Given the description of an element on the screen output the (x, y) to click on. 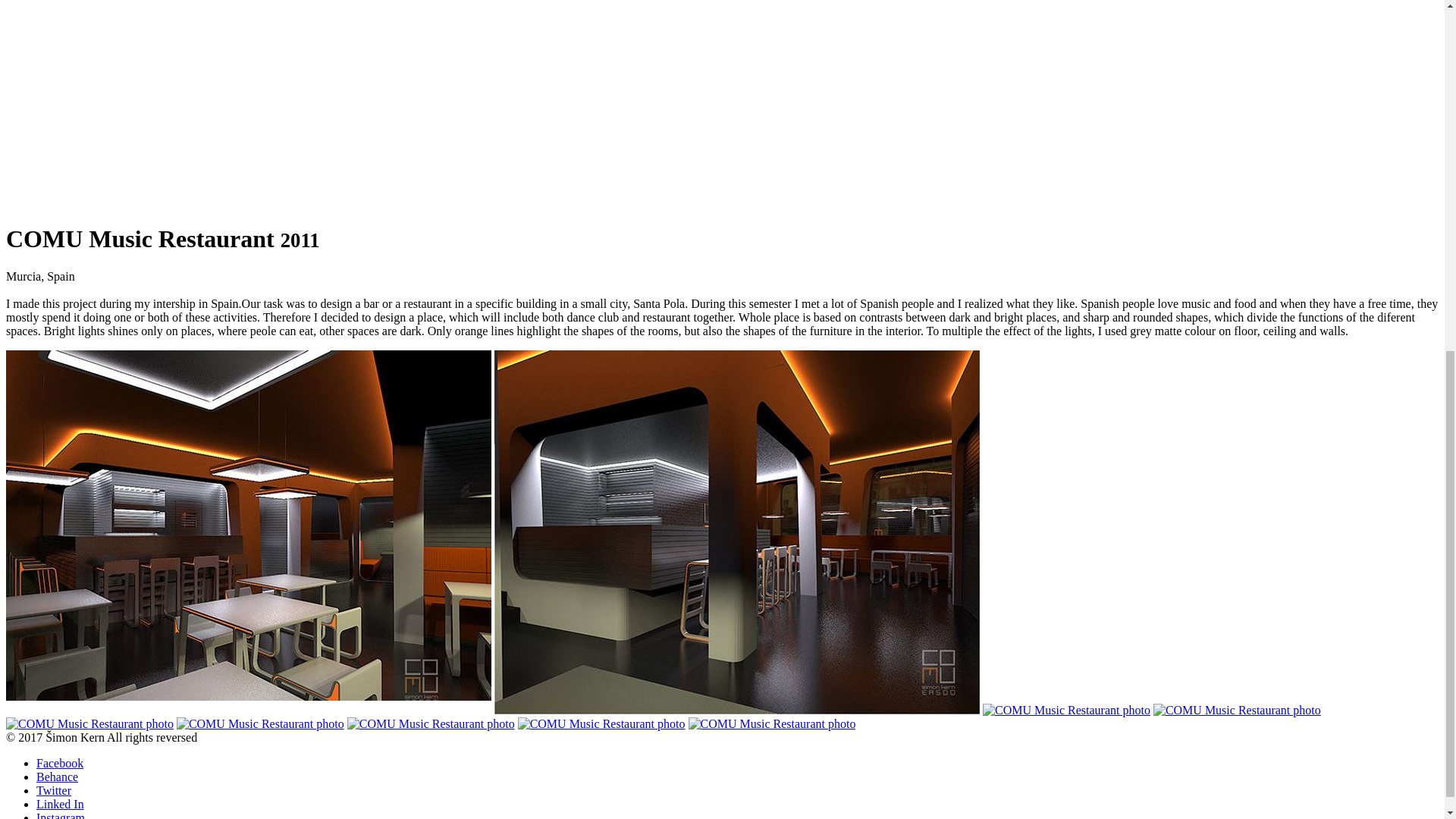
Twitter (53, 789)
Linked In (60, 803)
Behance (57, 776)
Facebook (59, 762)
